Given the description of an element on the screen output the (x, y) to click on. 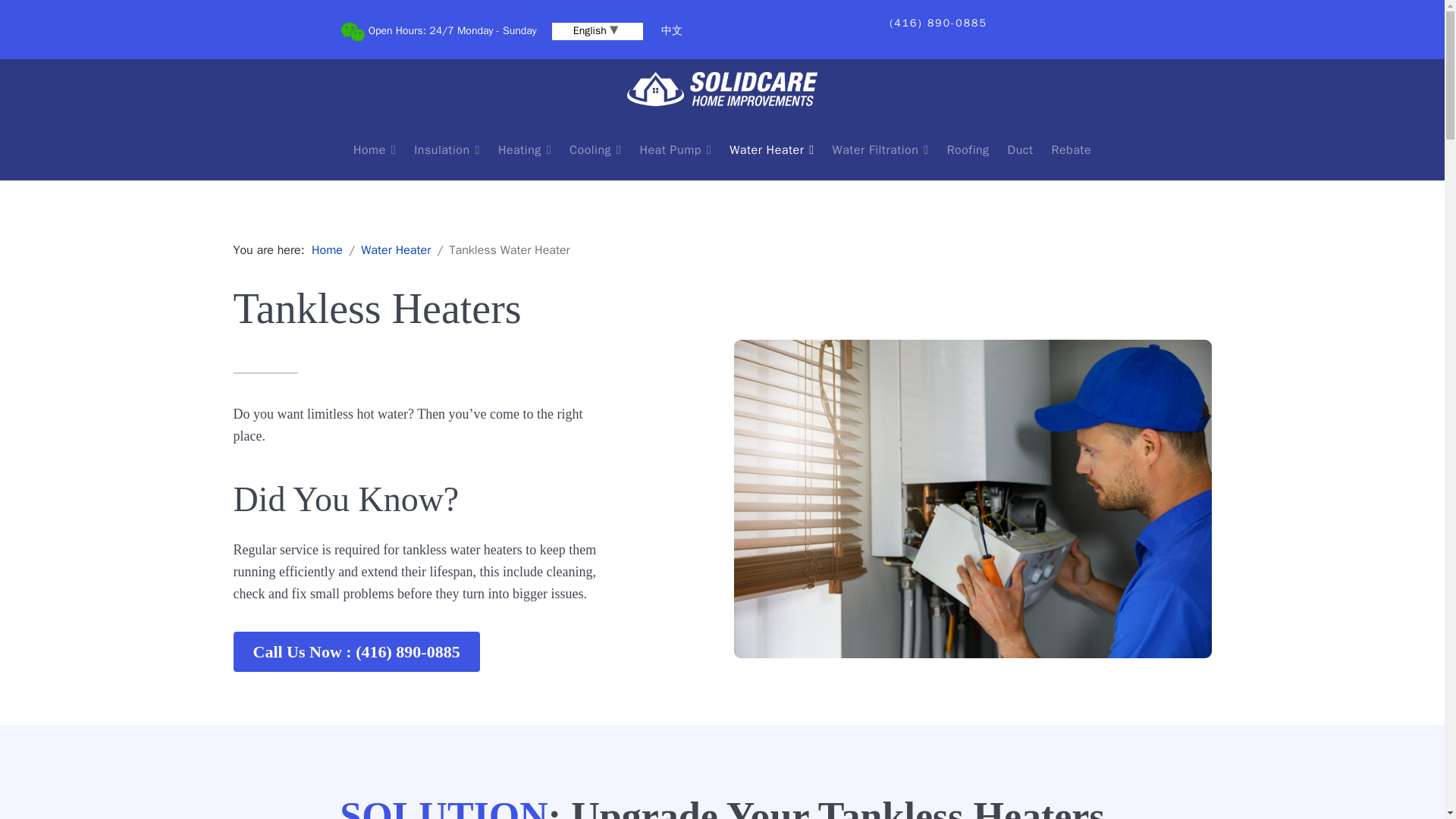
Water Filtration (880, 149)
Heat Pump (675, 149)
Insulation (446, 149)
Water Heater (771, 149)
